Given the description of an element on the screen output the (x, y) to click on. 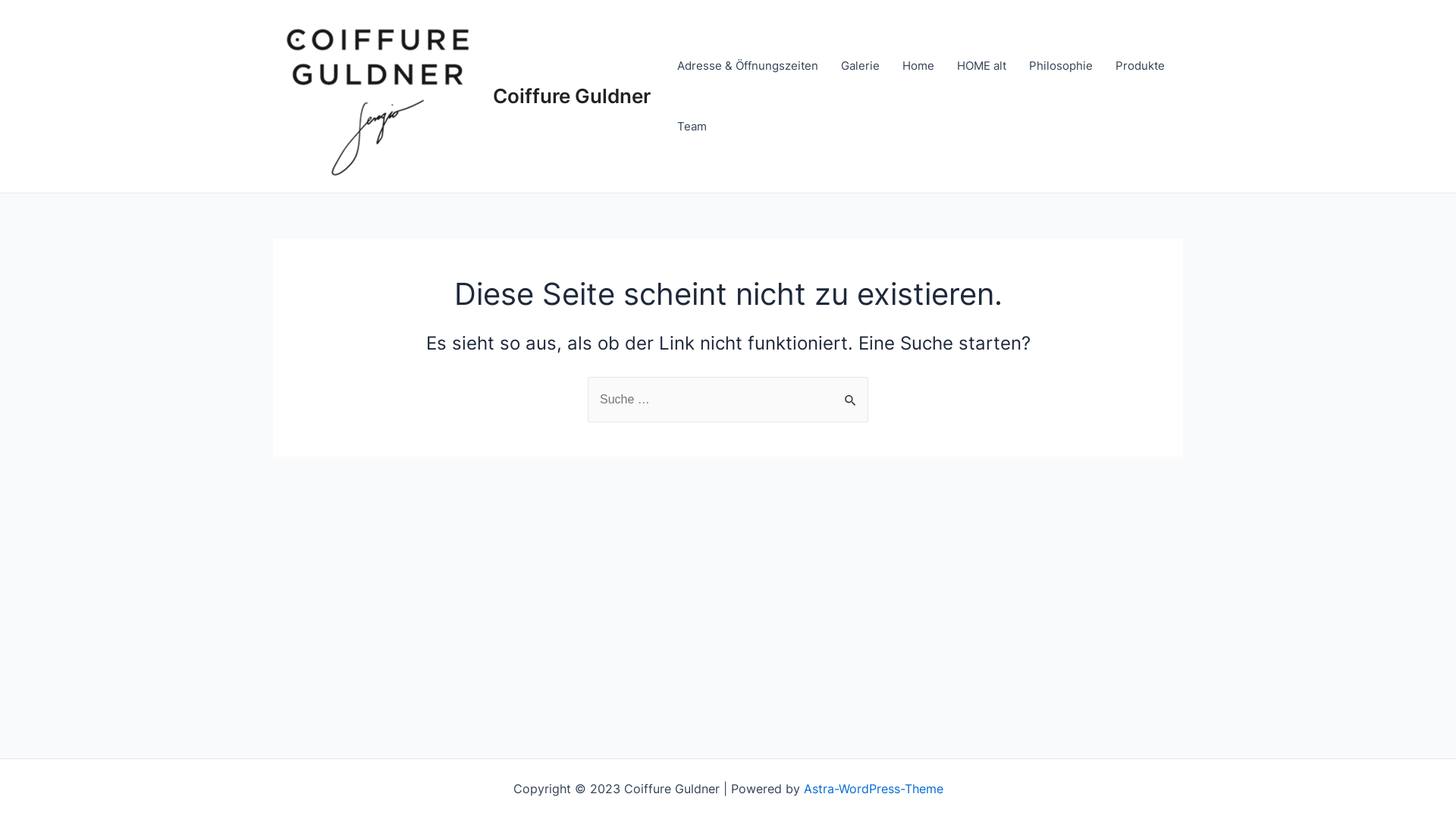
Team Element type: text (691, 126)
Astra-WordPress-Theme Element type: text (873, 788)
Coiffure Guldner Element type: text (571, 95)
Produkte Element type: text (1140, 65)
Home Element type: text (918, 65)
Suche Element type: text (851, 392)
HOME alt Element type: text (981, 65)
Galerie Element type: text (860, 65)
Philosophie Element type: text (1060, 65)
